Given the description of an element on the screen output the (x, y) to click on. 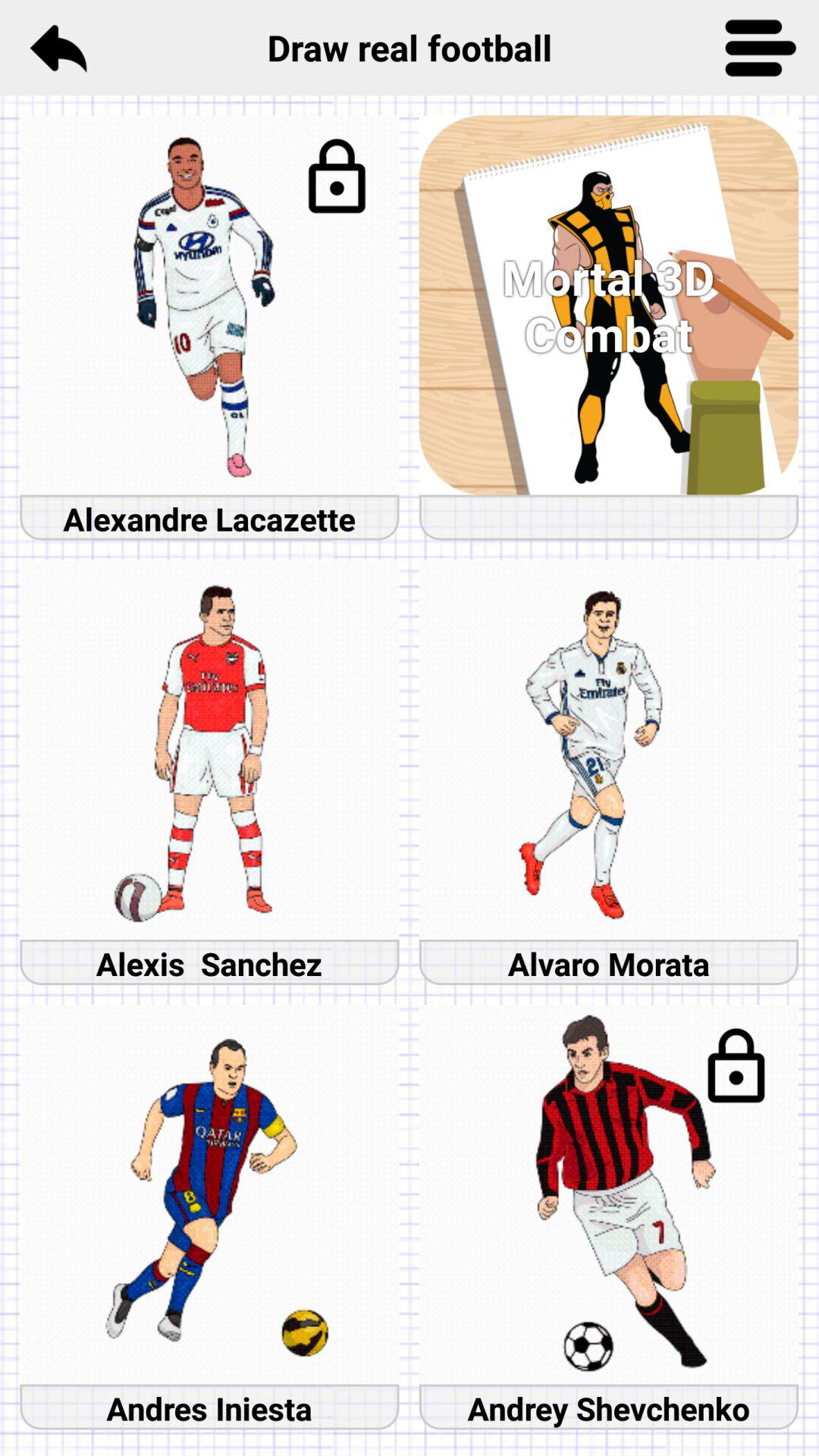
go to menu (760, 47)
